Given the description of an element on the screen output the (x, y) to click on. 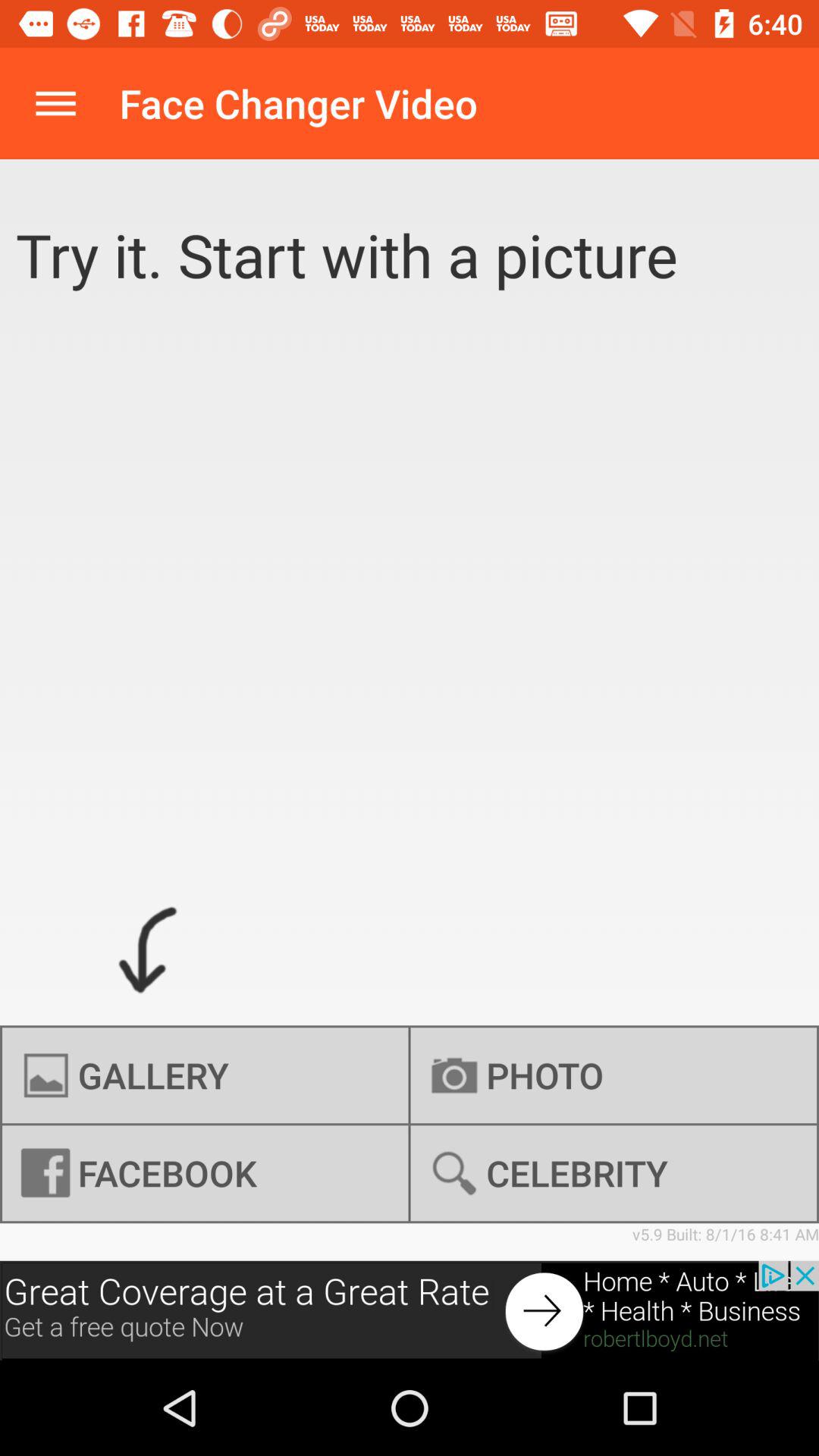
advertisement (409, 1310)
